Given the description of an element on the screen output the (x, y) to click on. 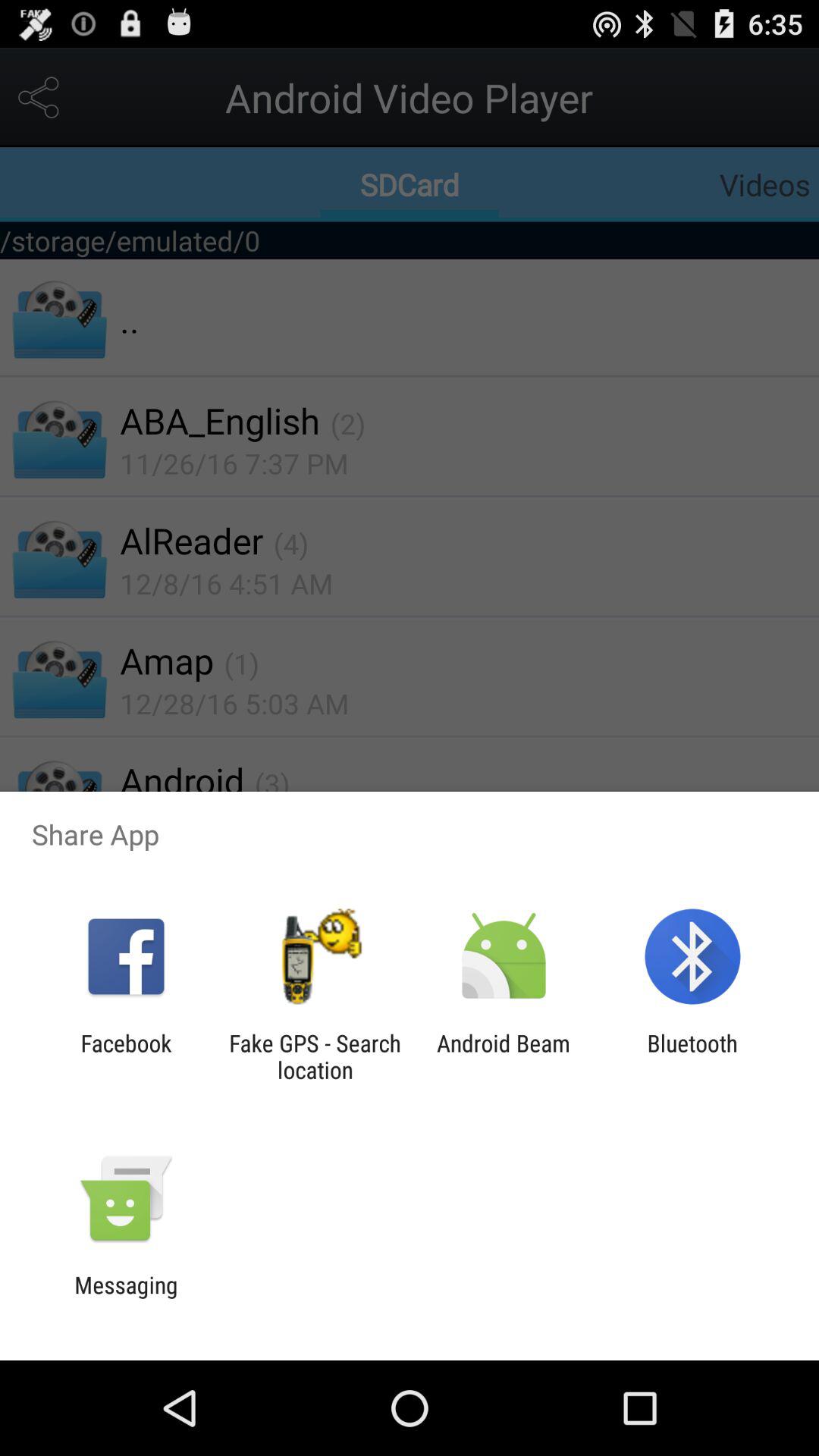
select the messaging app (126, 1298)
